Given the description of an element on the screen output the (x, y) to click on. 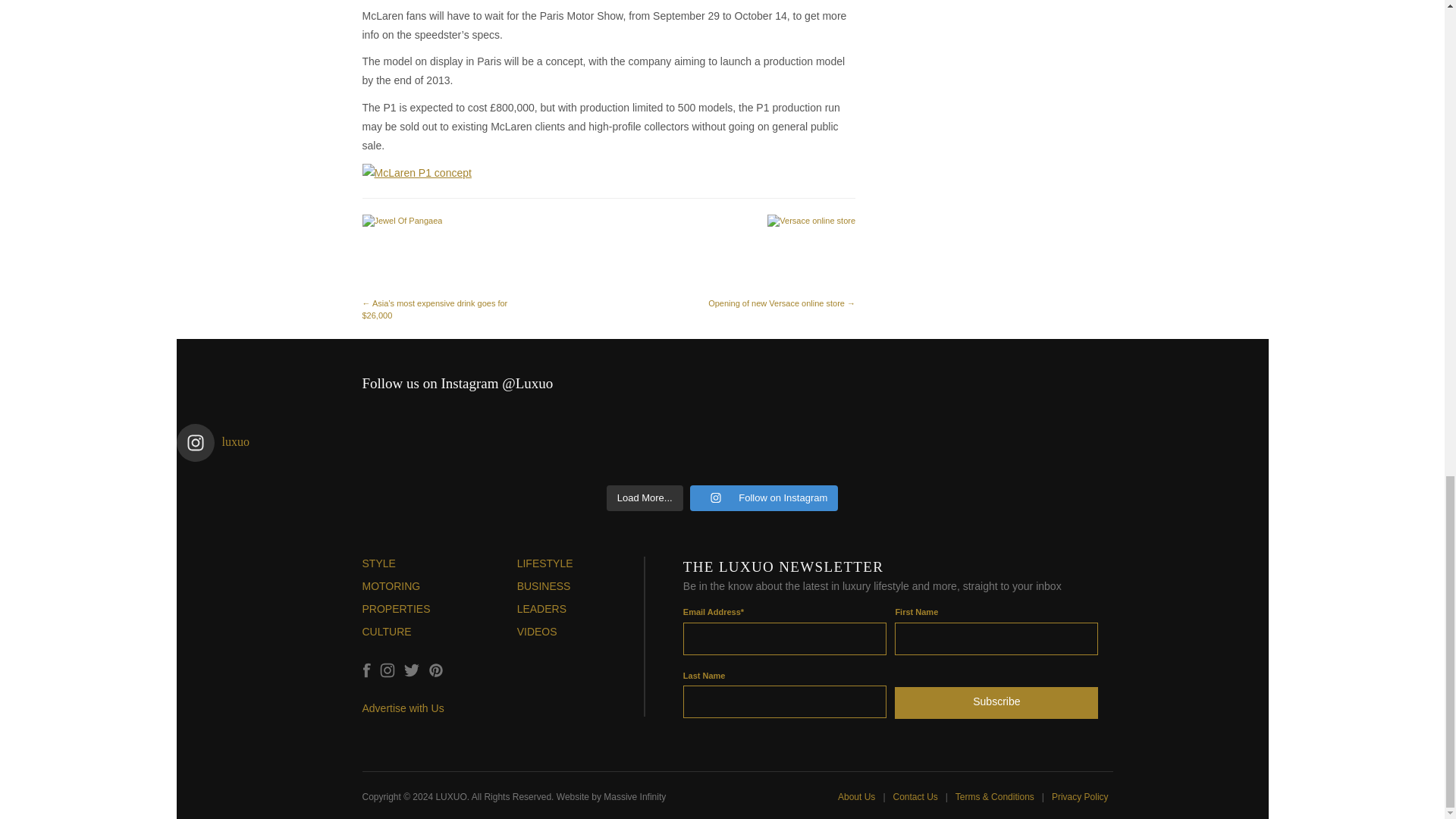
Subscribe (996, 698)
McLaren P1 concept (416, 172)
Next article : Opening of new Versace online store (779, 261)
